Given the description of an element on the screen output the (x, y) to click on. 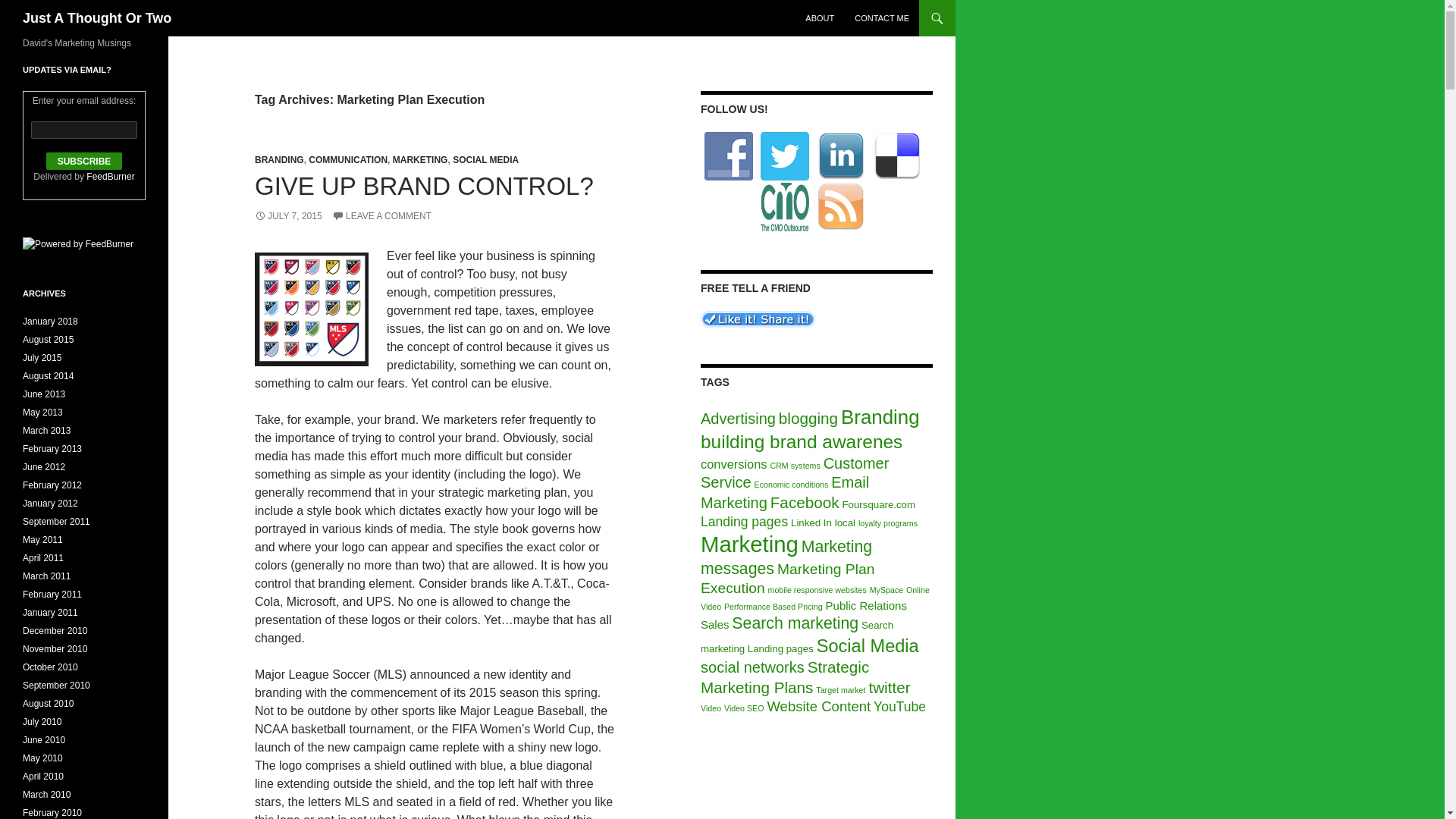
Follow Us on Facebook (728, 155)
GIVE UP BRAND CONTROL? (424, 185)
LEAVE A COMMENT (380, 215)
Tell a Friend (757, 318)
MARKETING (420, 159)
JULY 7, 2015 (287, 215)
Follow Us on Twitter (784, 155)
BRANDING (279, 159)
